Given the description of an element on the screen output the (x, y) to click on. 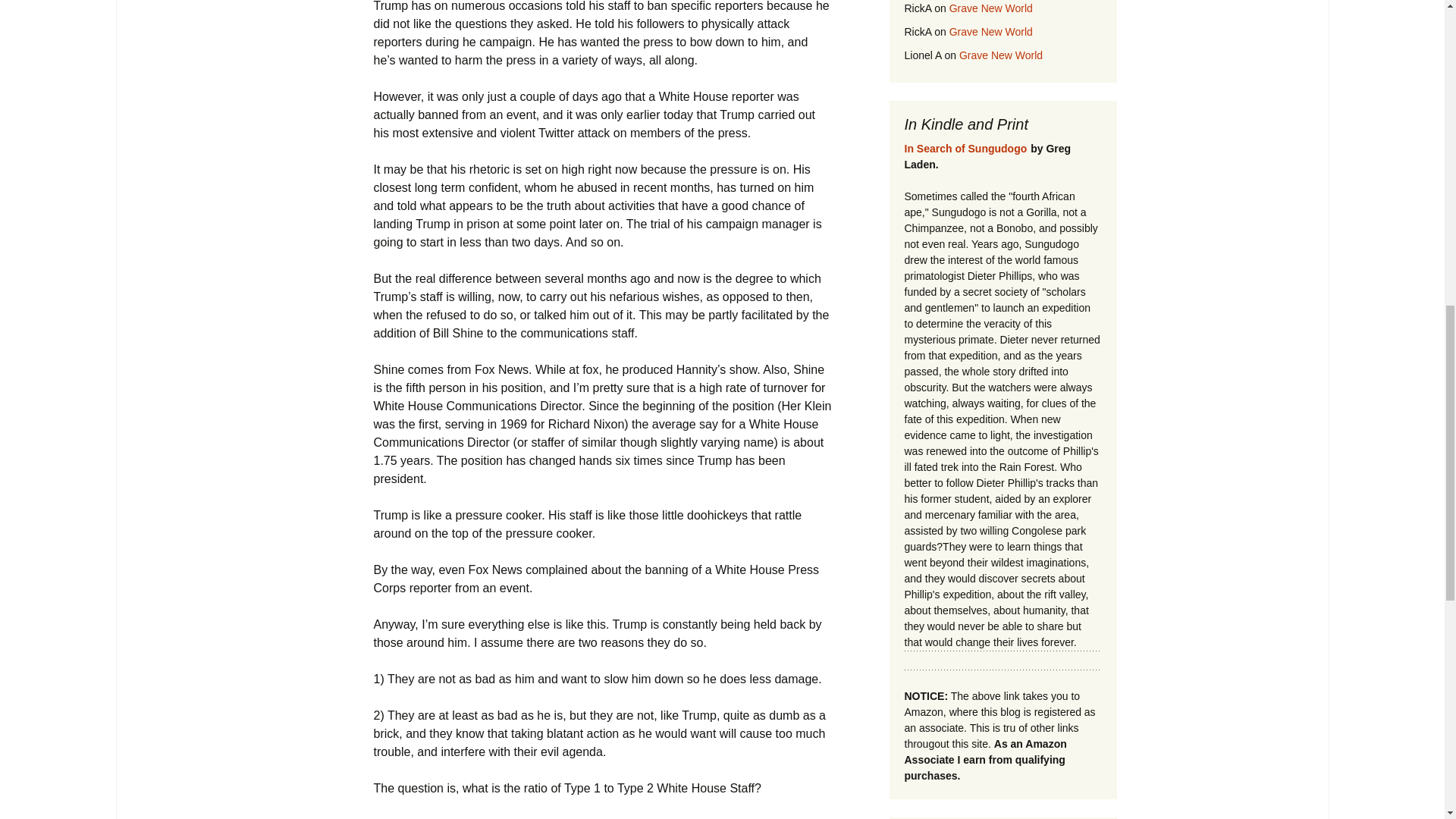
Grave New World (1000, 55)
In Search of Sungudogo (965, 148)
View all 8 comments (427, 818)
Grave New World (990, 31)
Grave New World (990, 8)
